Given the description of an element on the screen output the (x, y) to click on. 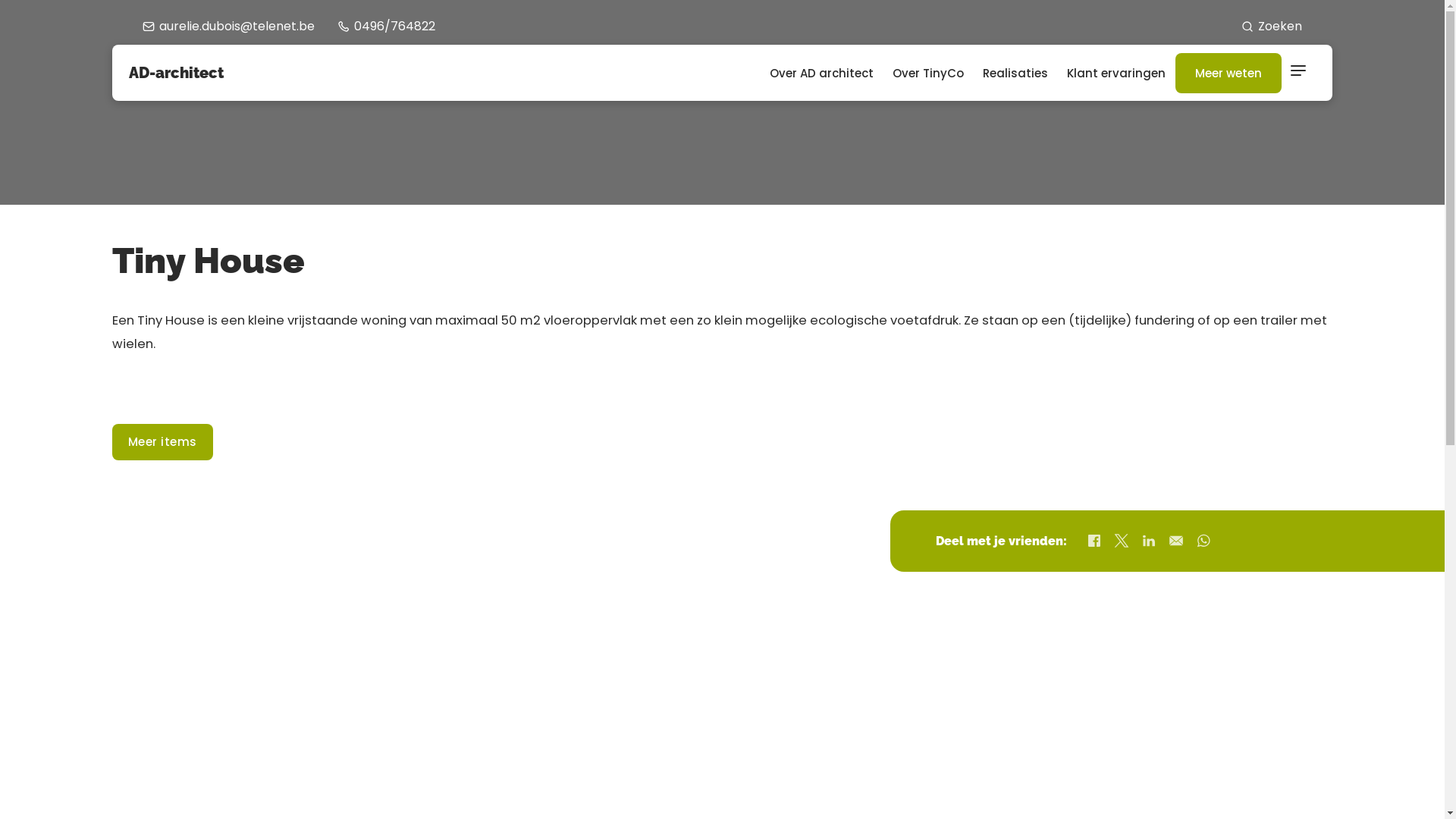
Share via linkedin Element type: hover (1148, 540)
Share via whatsapp Element type: hover (1203, 540)
0496/764822 Element type: text (386, 26)
Meer weten Element type: text (1228, 73)
Meer items Element type: text (162, 441)
Over AD architect Element type: text (821, 72)
Zoeken Element type: text (1271, 26)
Share via mail Element type: hover (1175, 540)
Share via facebook Element type: hover (1093, 540)
Toggle navigation Element type: hover (1298, 72)
AD-architect Element type: text (175, 72)
Klant ervaringen Element type: text (1116, 72)
aurelie.dubois@telenet.be Element type: text (228, 26)
Share via X Element type: hover (1121, 540)
Realisaties Element type: text (1015, 72)
Over TinyCo Element type: text (928, 72)
